Given the description of an element on the screen output the (x, y) to click on. 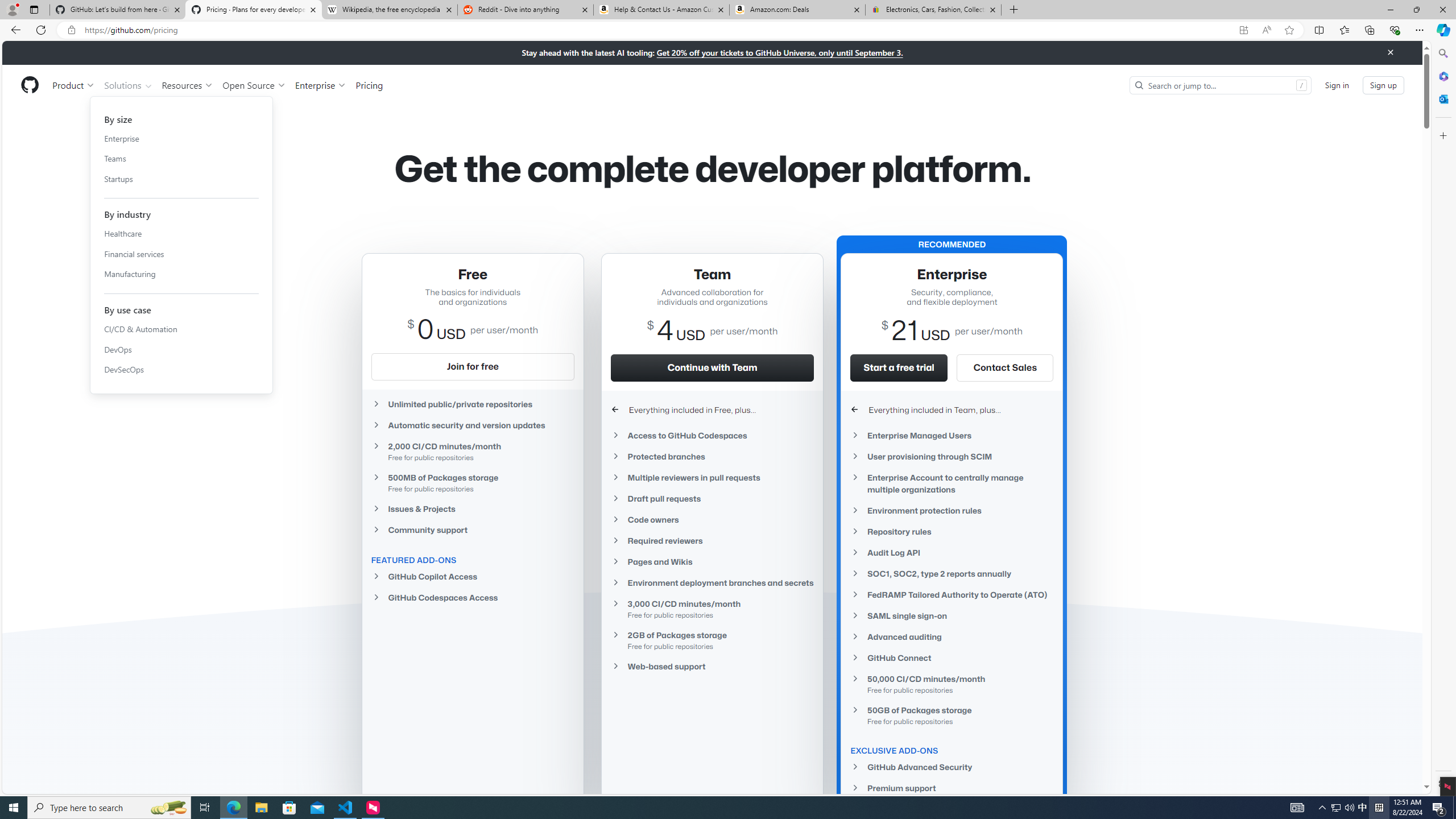
Teams (181, 158)
Manufacturing (181, 274)
Enterprise (319, 84)
Startups (181, 178)
Healthcare (181, 233)
Audit Log API (952, 552)
Enterprise Managed Users (952, 435)
Financial services (181, 253)
Premium support (952, 788)
Wikipedia, the free encyclopedia (390, 9)
